Given the description of an element on the screen output the (x, y) to click on. 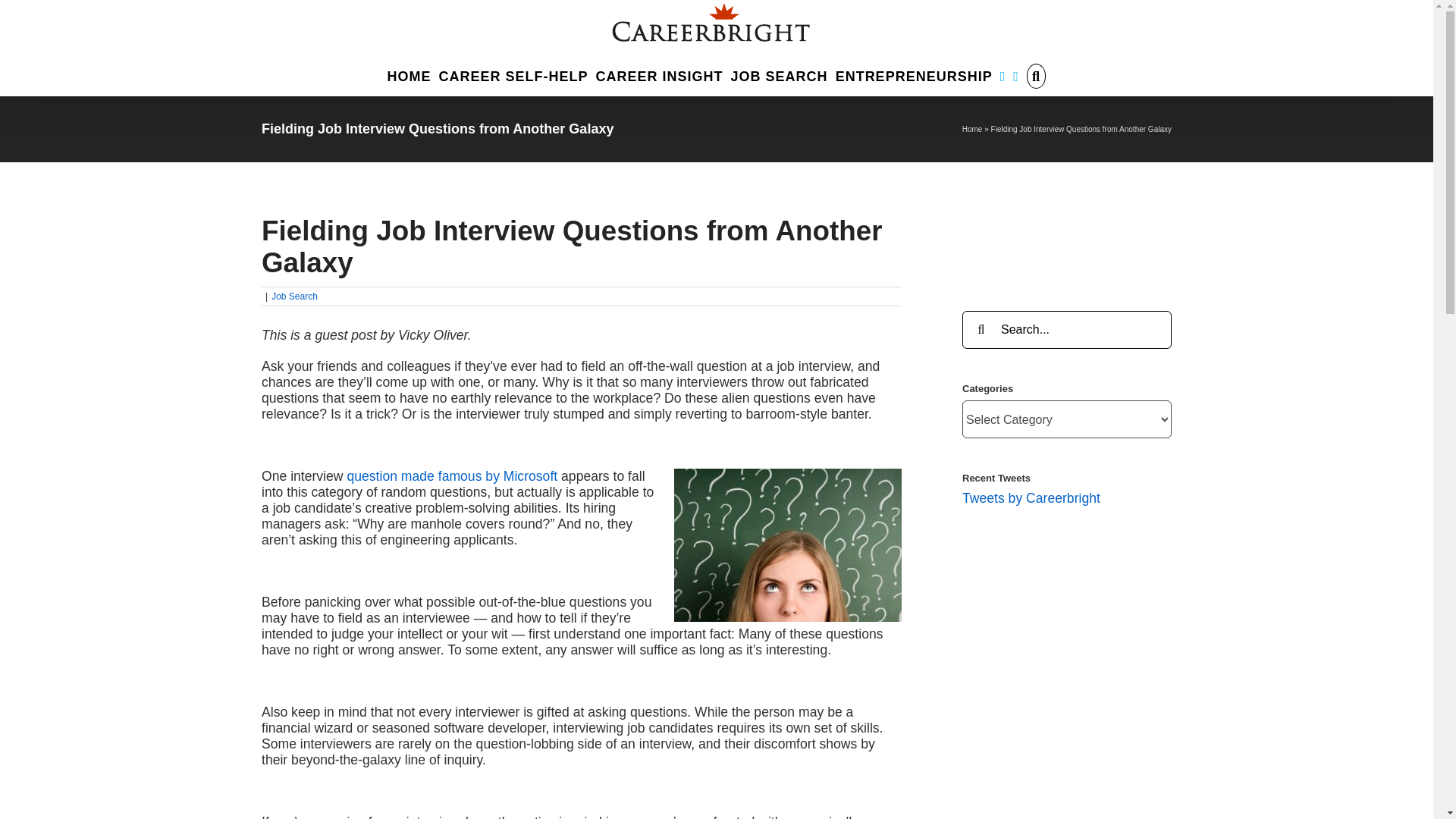
ENTREPRENEURSHIP (913, 74)
question made famous by Microsoft (451, 476)
JOB SEARCH (779, 74)
HOME (408, 74)
Job Search (293, 296)
Home (972, 129)
Tweets by Careerbright (1031, 498)
CAREER INSIGHT (659, 74)
CAREER SELF-HELP (513, 74)
